Given the description of an element on the screen output the (x, y) to click on. 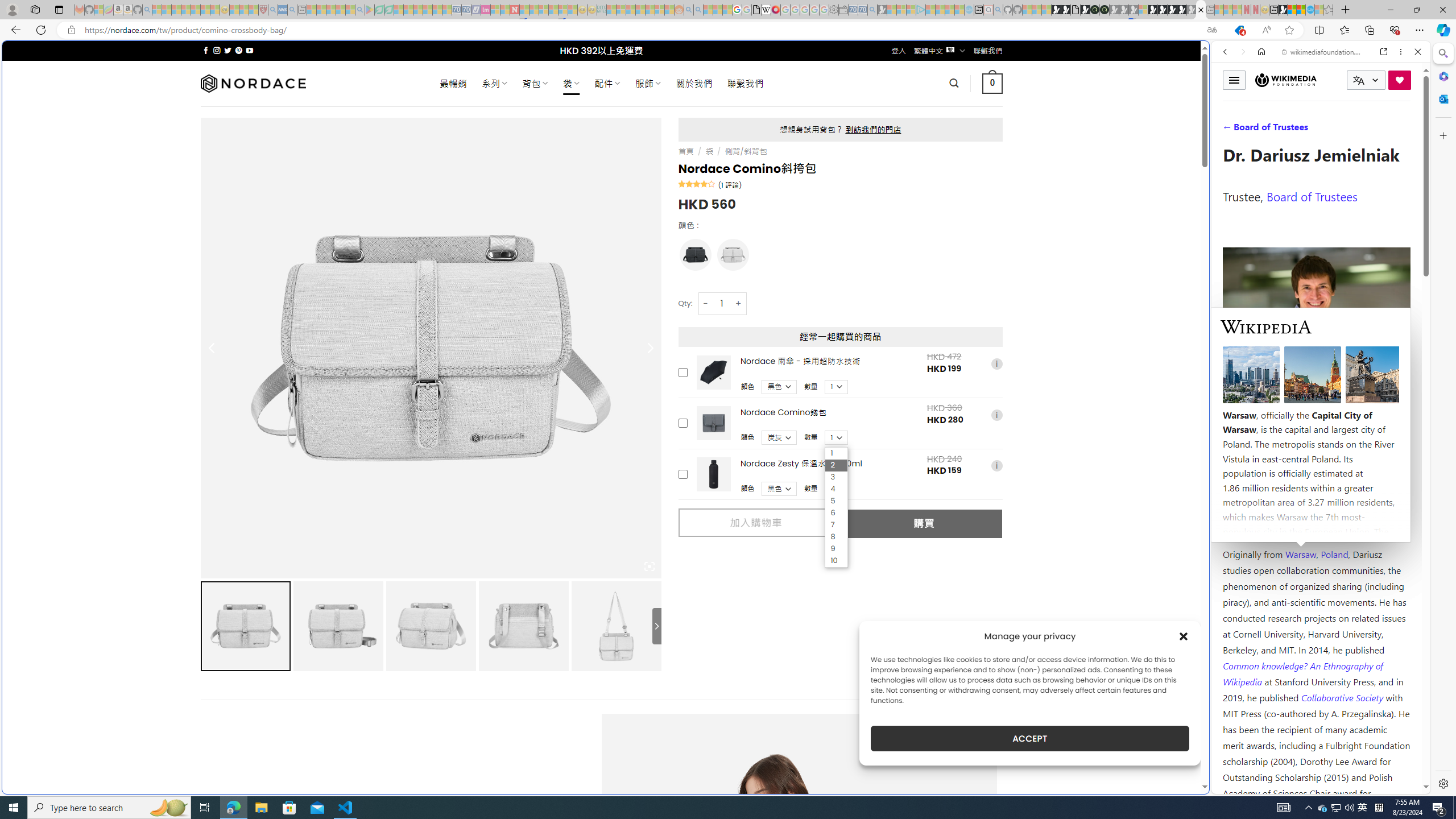
  0   (992, 83)
CURRENT LANGUAGE: (1366, 80)
